Given the description of an element on the screen output the (x, y) to click on. 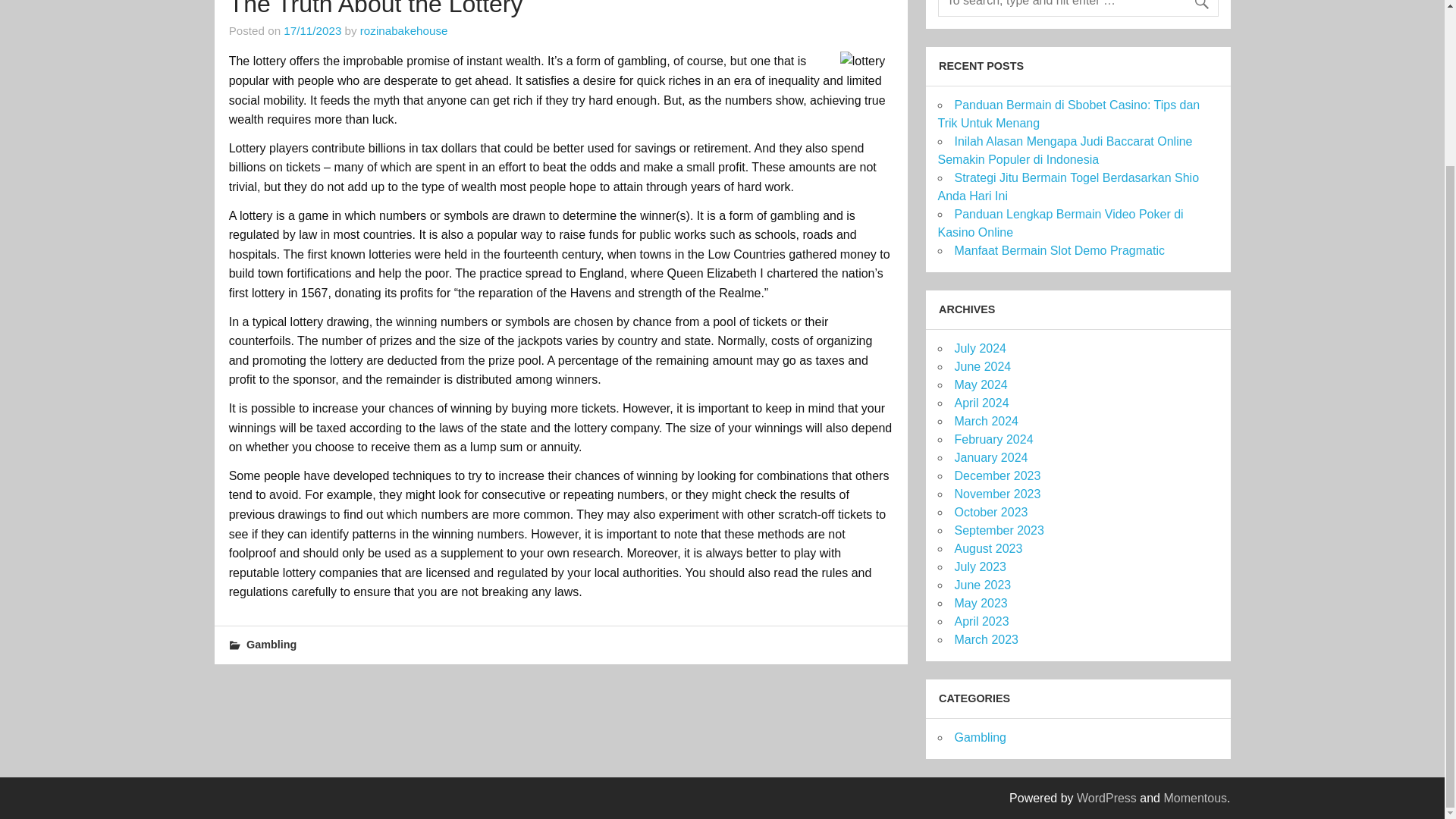
Strategi Jitu Bermain Togel Berdasarkan Shio Anda Hari Ini (1067, 186)
June 2024 (981, 366)
March 2023 (985, 639)
Gambling (271, 644)
July 2024 (979, 348)
9:59 AM (311, 30)
Momentous WordPress Theme (1195, 797)
May 2023 (980, 603)
WordPress (1107, 797)
March 2024 (985, 420)
Panduan Lengkap Bermain Video Poker di Kasino Online (1059, 223)
Manfaat Bermain Slot Demo Pragmatic (1058, 250)
August 2023 (987, 548)
April 2024 (981, 402)
January 2024 (990, 457)
